Given the description of an element on the screen output the (x, y) to click on. 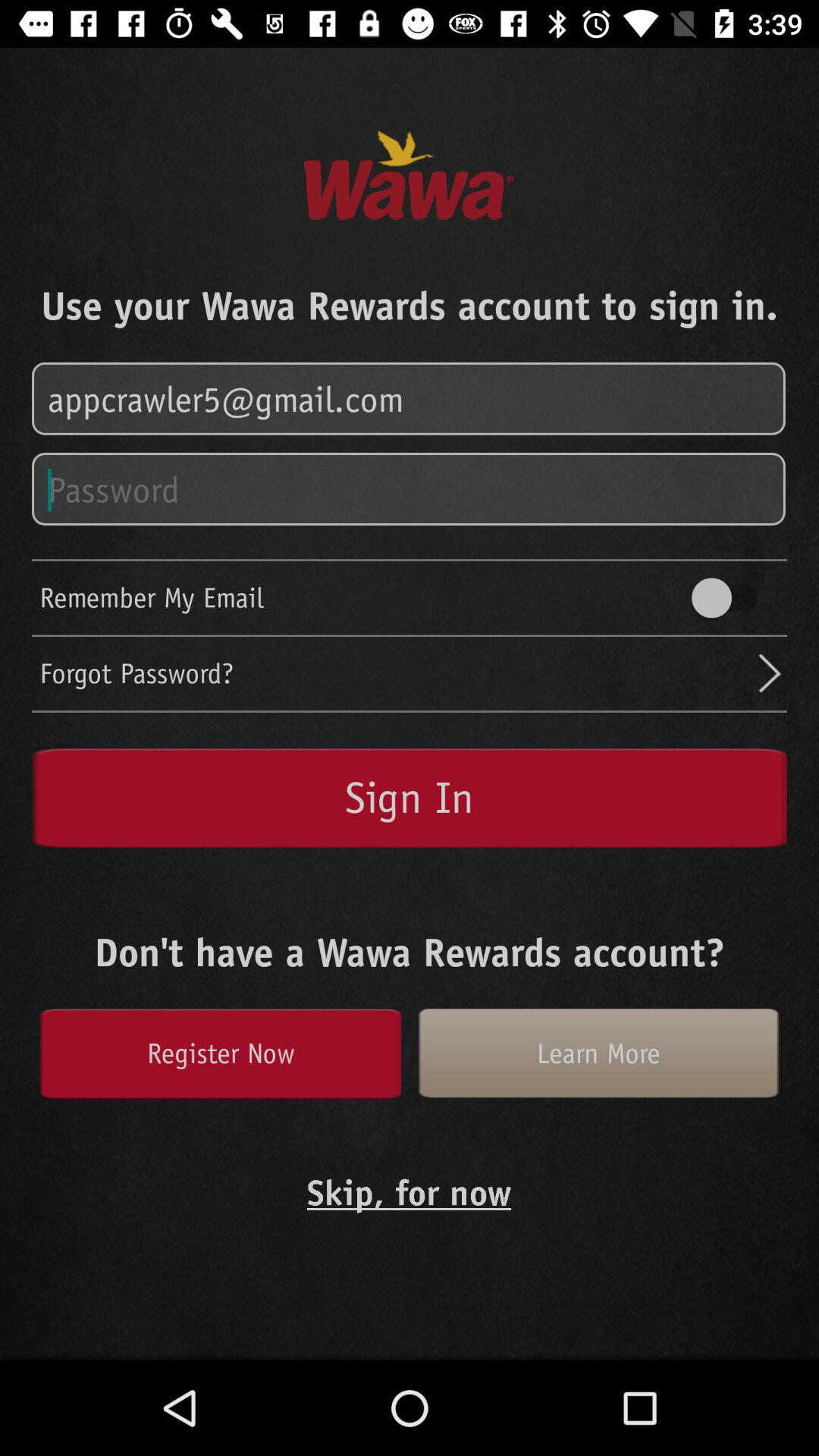
launch item below register now icon (409, 1192)
